Given the description of an element on the screen output the (x, y) to click on. 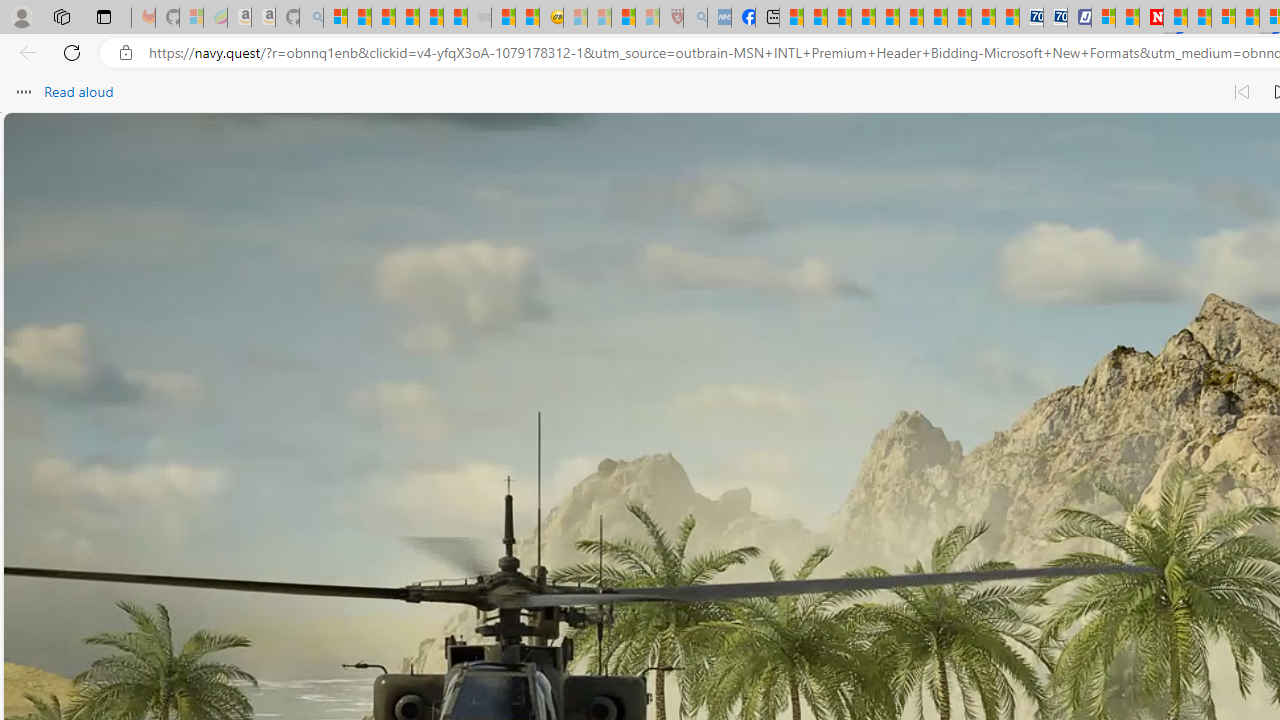
12 Popular Science Lies that Must be Corrected - Sleeping (647, 17)
Read previous paragraph (1241, 92)
Climate Damage Becomes Too Severe To Reverse (863, 17)
